Given the description of an element on the screen output the (x, y) to click on. 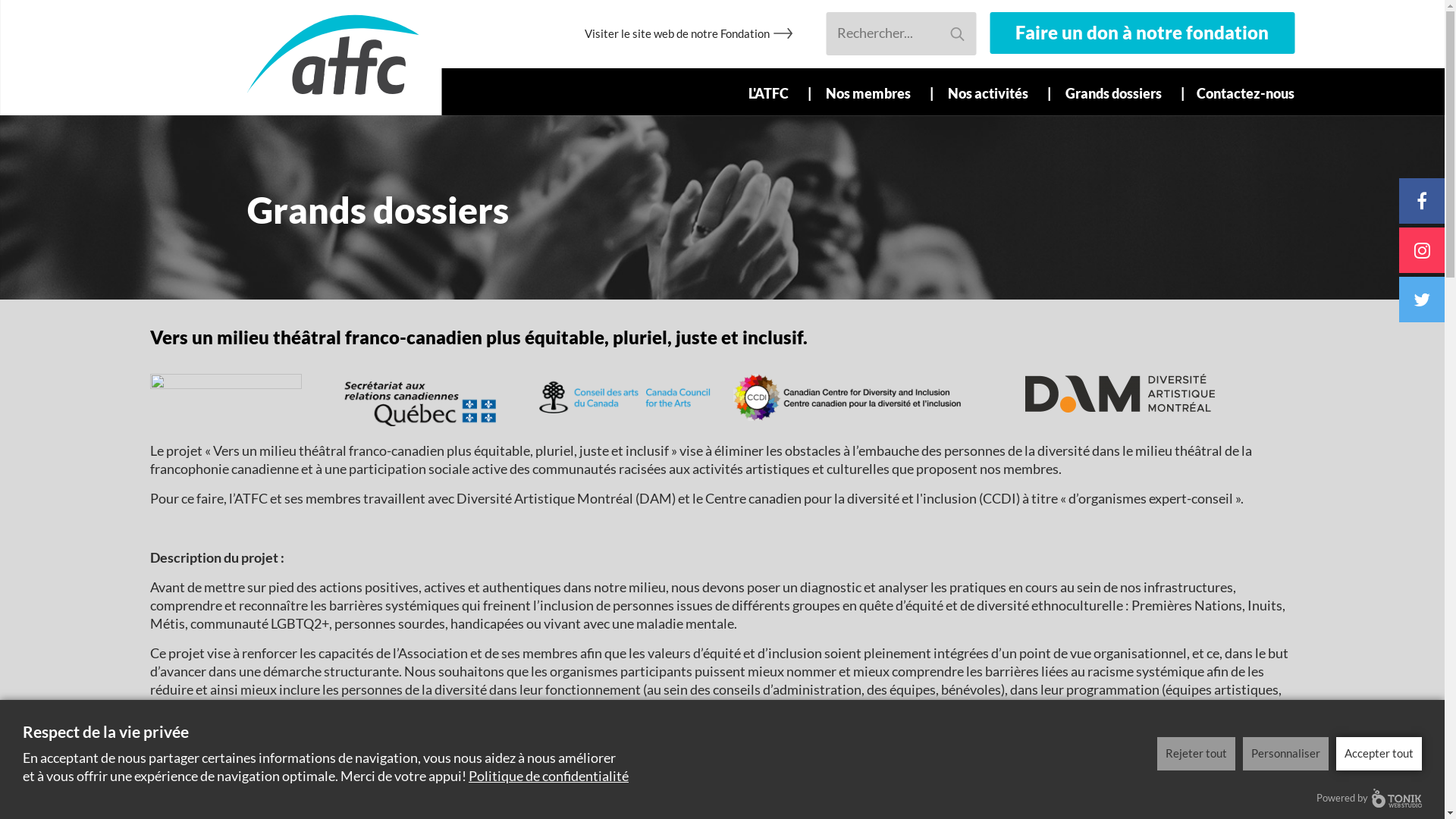
Nos membres Element type: text (872, 91)
Rejeter tout Element type: text (1196, 753)
Contactez-nous Element type: text (1239, 93)
Personnaliser Element type: text (1285, 753)
Visiter le site web de notre Fondation Element type: text (677, 33)
Accepter tout Element type: text (1378, 753)
L'ATFC Element type: text (772, 91)
Grands dossiers Element type: text (1117, 91)
Powered by Element type: text (1368, 797)
